Given the description of an element on the screen output the (x, y) to click on. 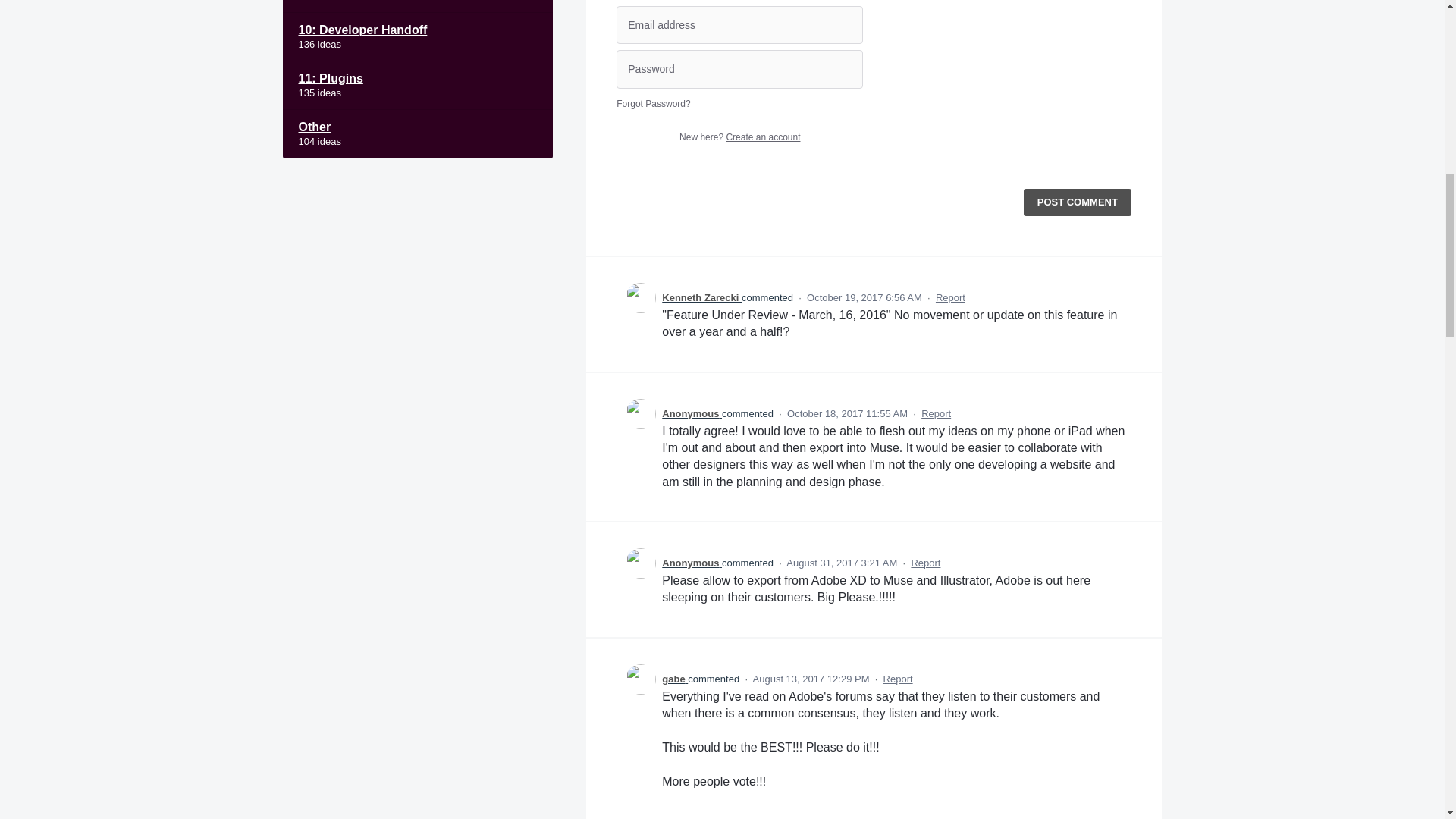
10: Developer Handoff (417, 37)
View all ideas in category 10: Developer Handoff (417, 37)
Other (417, 133)
11: Plugins (417, 85)
View all ideas in category Other (417, 133)
View all ideas in category 11: Plugins (417, 85)
